Given the description of an element on the screen output the (x, y) to click on. 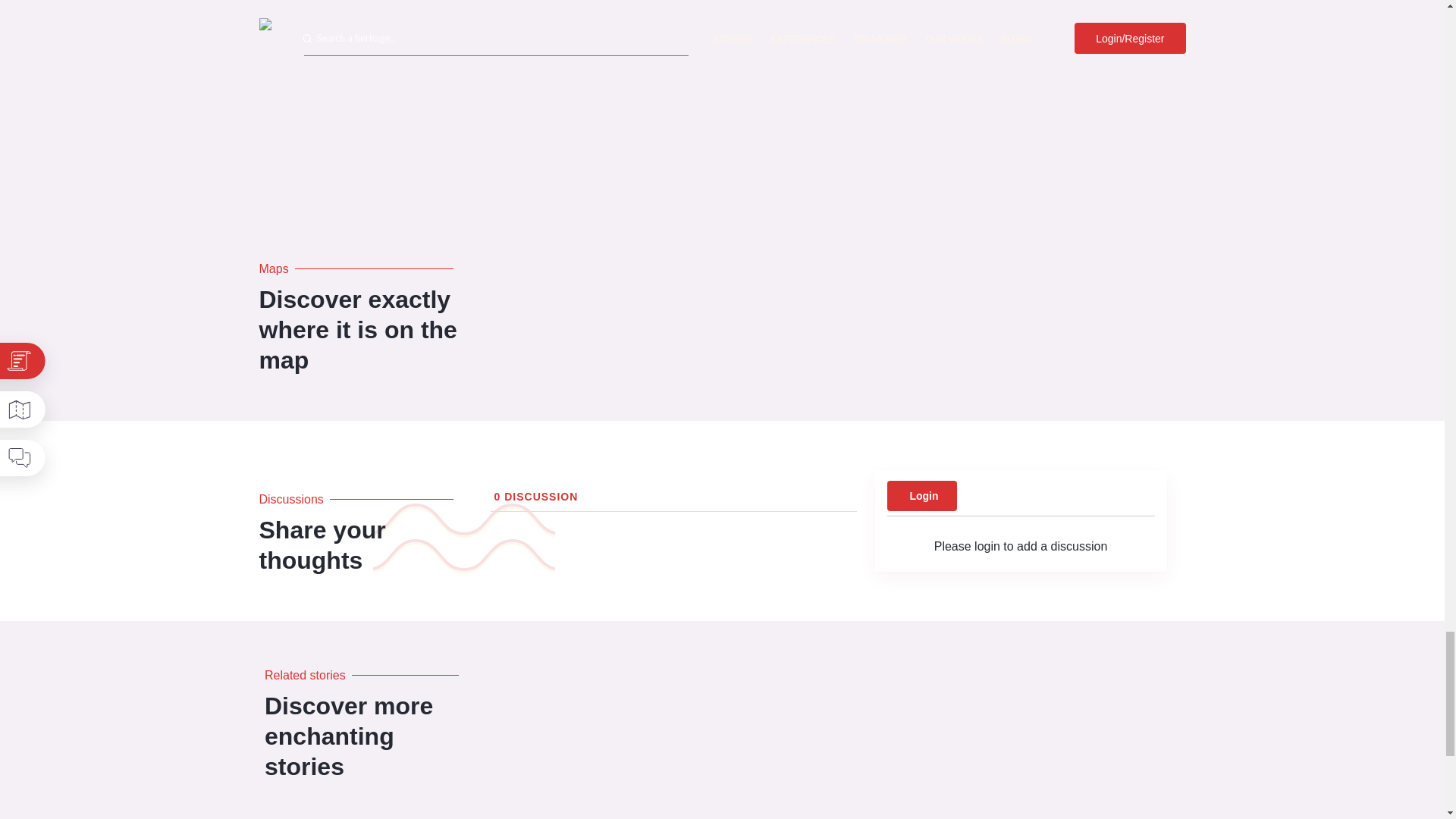
Login (921, 495)
